Given the description of an element on the screen output the (x, y) to click on. 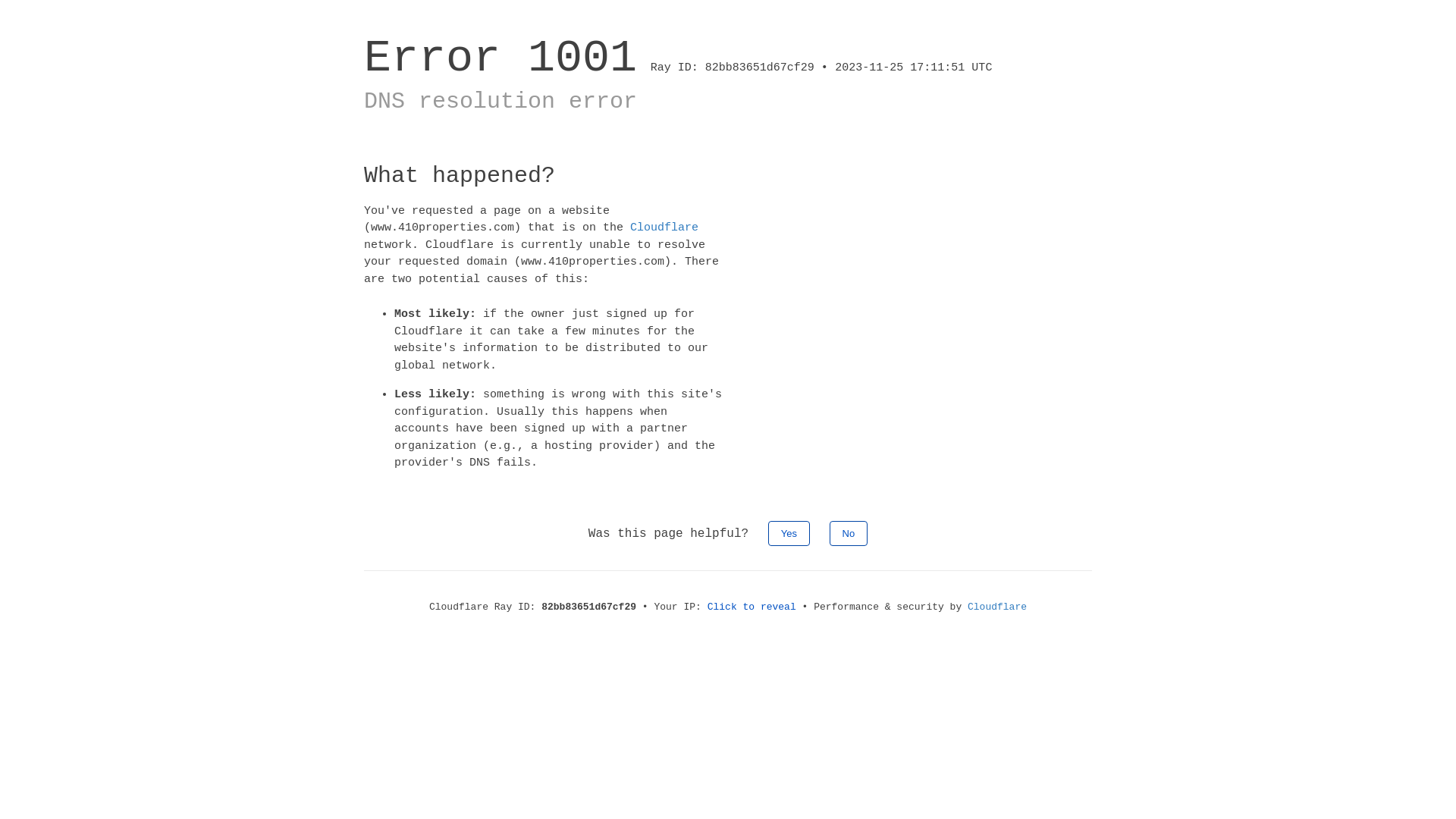
Cloudflare Element type: text (996, 605)
No Element type: text (848, 532)
Yes Element type: text (788, 532)
Cloudflare Element type: text (664, 227)
Click to reveal Element type: text (751, 605)
